Given the description of an element on the screen output the (x, y) to click on. 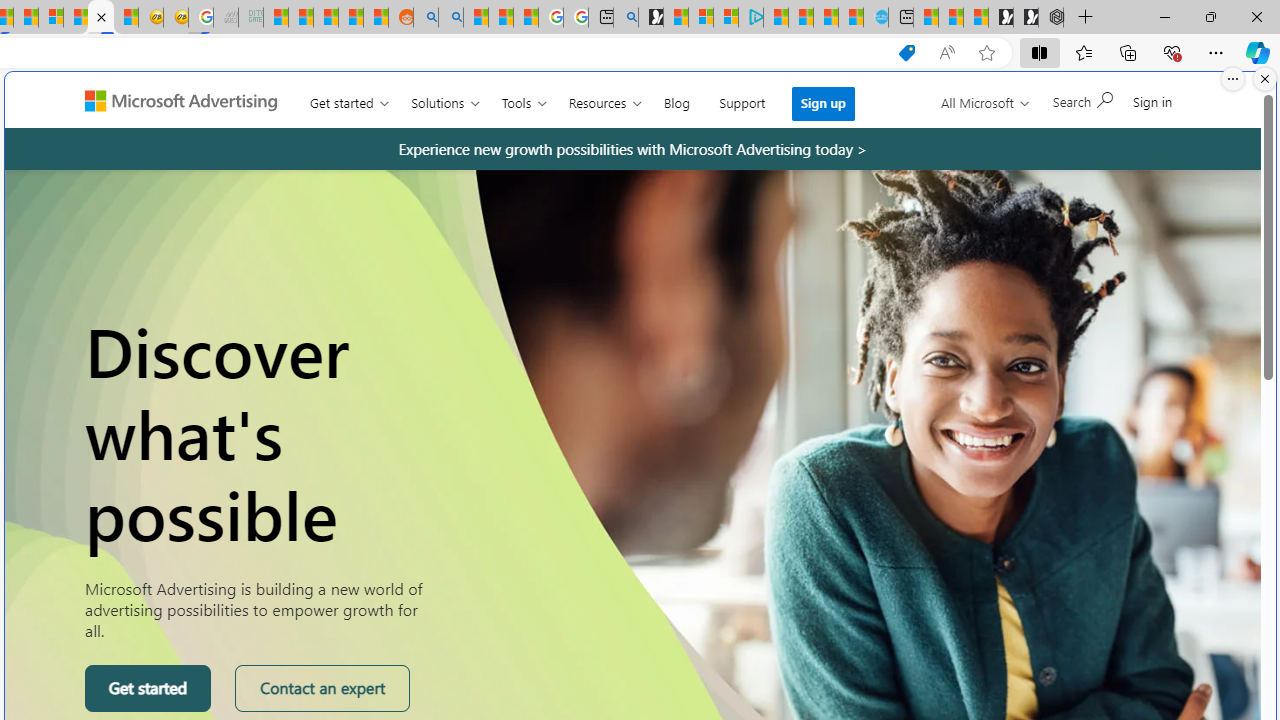
MSNBC - MSN (275, 17)
Sign up (823, 103)
Collections (1128, 52)
14 Common Myths Debunked By Scientific Facts (26, 17)
Play Free Online Games | Games from Microsoft Start (1025, 17)
Get the Copilot app  (1117, 109)
Read aloud this page (Ctrl+Shift+U) (946, 53)
